Given the description of an element on the screen output the (x, y) to click on. 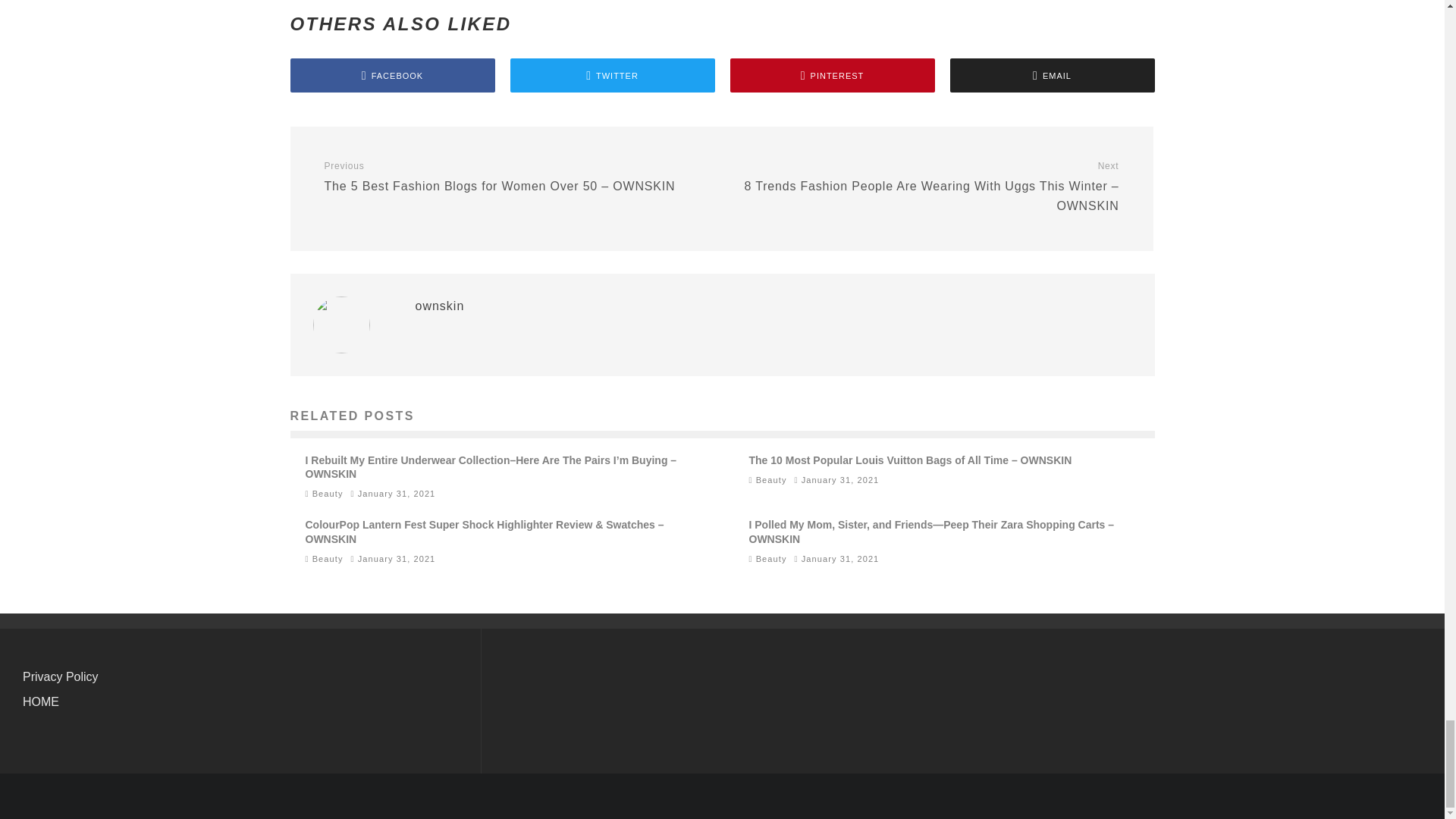
TWITTER (611, 75)
HOME (41, 701)
FACEBOOK (392, 75)
PINTEREST (831, 75)
Beauty (328, 493)
Beauty (771, 558)
Privacy Policy (61, 676)
Beauty (771, 480)
ownskin (439, 305)
Beauty (328, 558)
EMAIL (1051, 75)
